Given the description of an element on the screen output the (x, y) to click on. 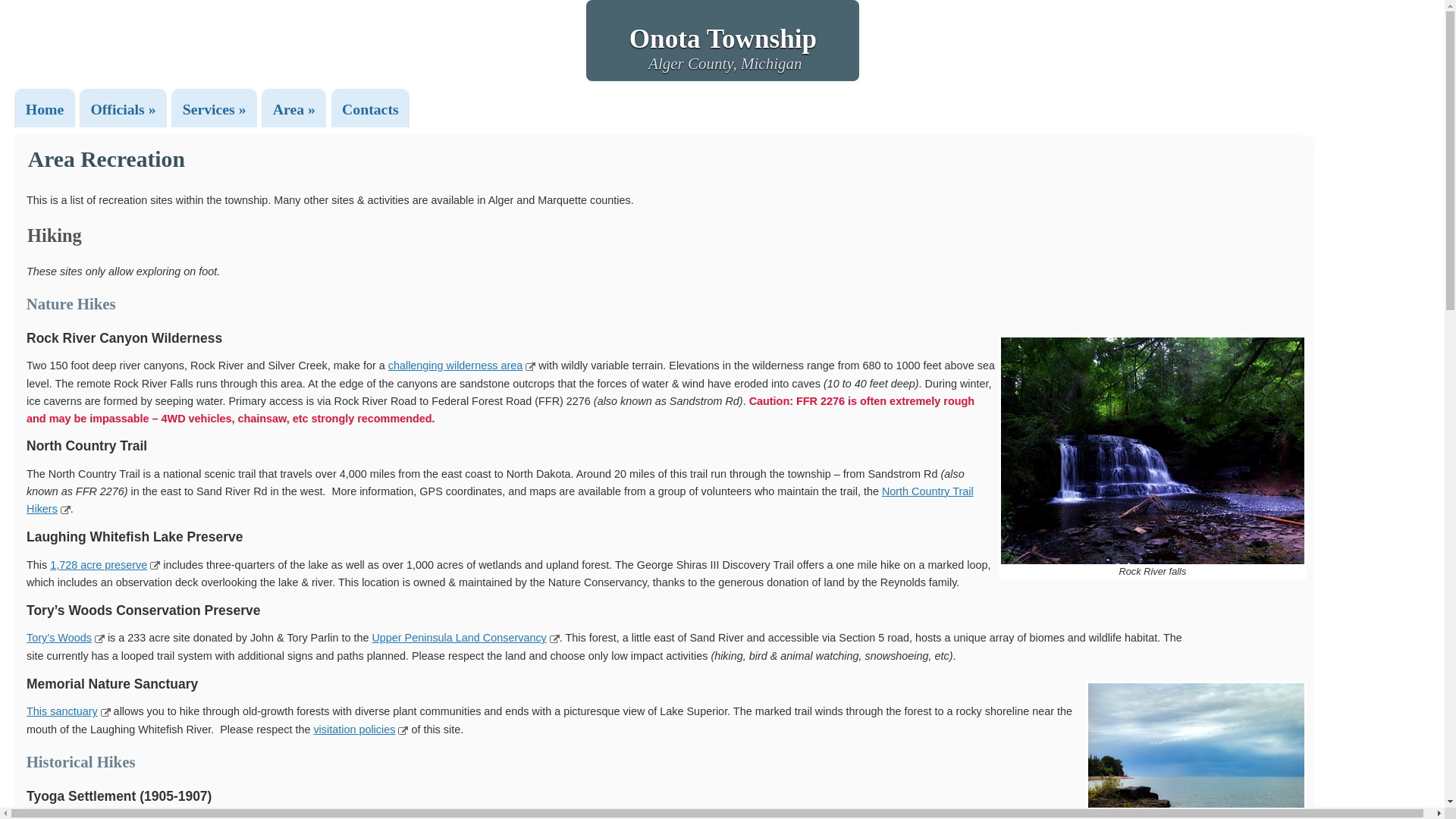
Contacts (370, 109)
Services (214, 109)
visitation policies (353, 729)
Onota Township (722, 39)
North Country Trail Hikers (500, 500)
Officials (122, 109)
challenging wilderness area (455, 365)
Upper Peninsula Land Conservancy (458, 637)
Home (45, 109)
This sanctuary (61, 711)
Area (294, 109)
1,728 acre preserve (98, 564)
